Given the description of an element on the screen output the (x, y) to click on. 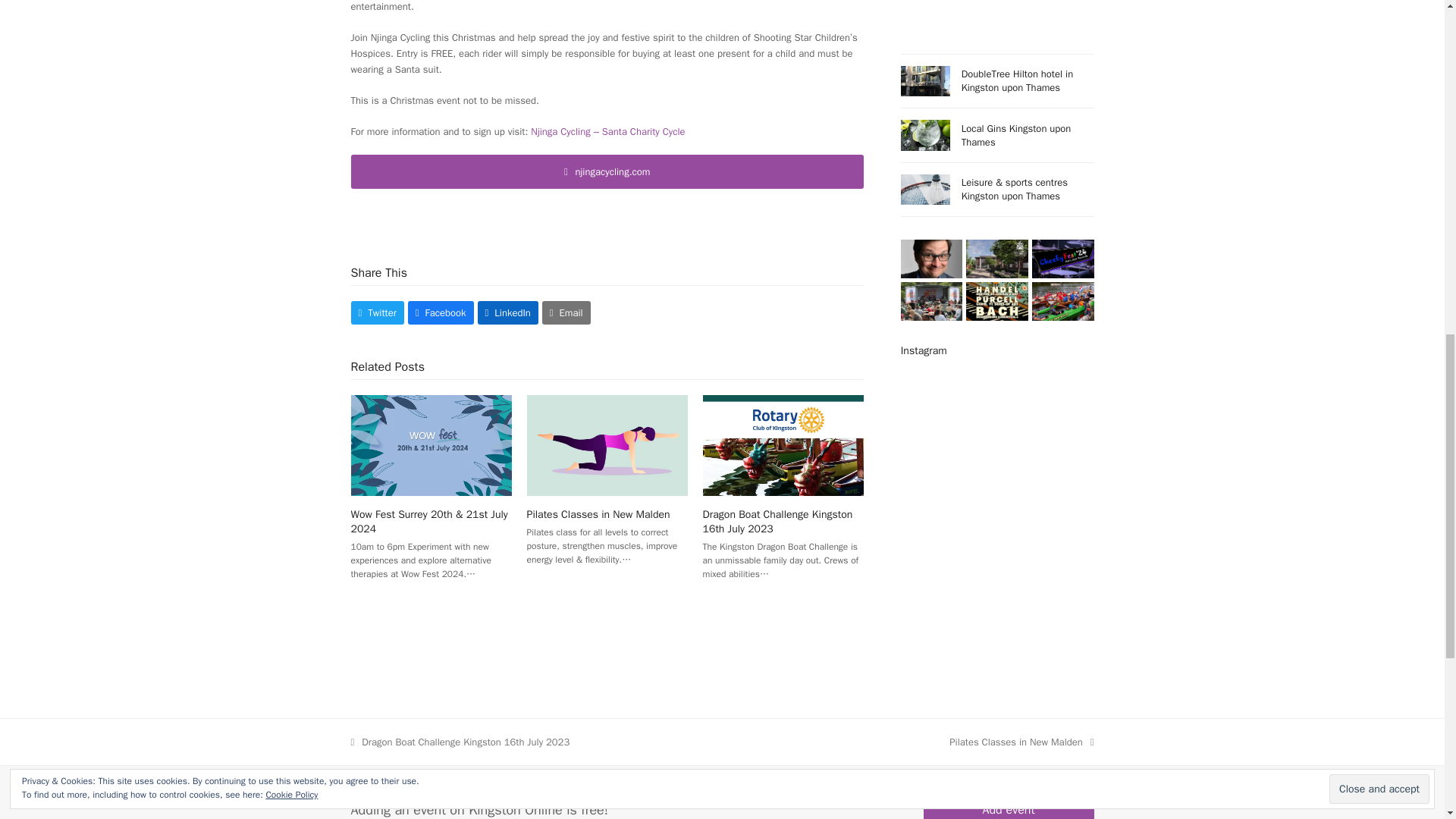
LinkedIn (507, 312)
Dragon Boat Challenge Kingston 16th July 2023 (778, 521)
Dragon  Boat Challenge Kingston 16th July 2023 (783, 444)
Taste of Caribbean Festival 3rd August 2024 (931, 300)
njingacycling.com (606, 171)
Email (566, 312)
Pilates Classes in New Malden (607, 444)
Advertisement (998, 15)
Pilates Classes in New Malden (598, 513)
Facebook (440, 312)
